Given the description of an element on the screen output the (x, y) to click on. 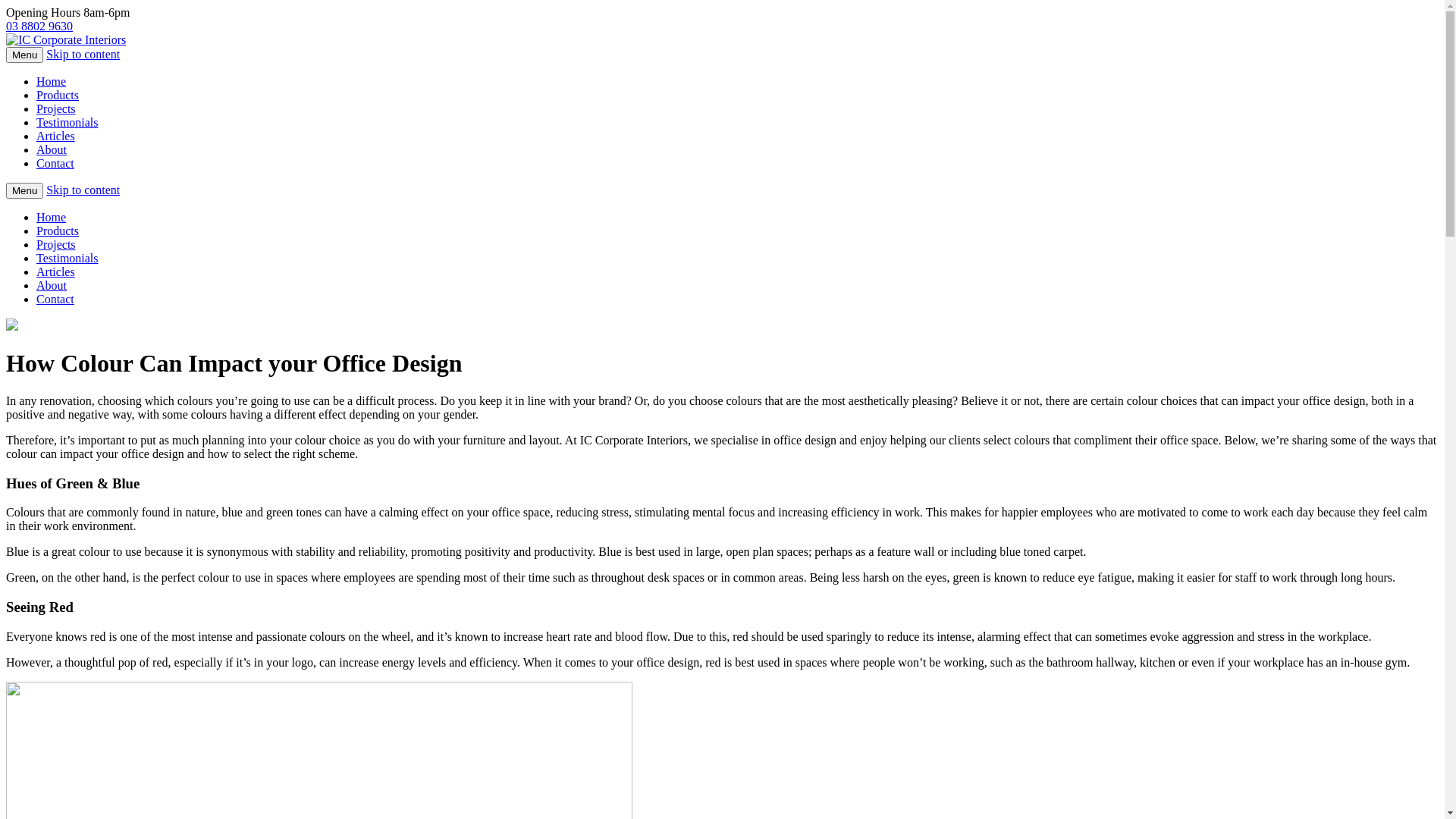
Home Element type: text (50, 216)
Home Element type: text (50, 81)
Contact Element type: text (55, 298)
Skip to content Element type: text (82, 189)
Office Fitouts Melbourne | Commercial Element type: hover (65, 39)
Products Element type: text (57, 230)
Testimonials Element type: text (67, 257)
Contact Element type: text (55, 162)
Menu Element type: text (24, 190)
Menu Element type: text (24, 54)
03 8802 9630 Element type: text (39, 25)
Articles Element type: text (55, 135)
About Element type: text (51, 149)
Skip to content Element type: text (82, 53)
Testimonials Element type: text (67, 122)
About Element type: text (51, 285)
Articles Element type: text (55, 271)
Projects Element type: text (55, 108)
Projects Element type: text (55, 244)
Products Element type: text (57, 94)
